Given the description of an element on the screen output the (x, y) to click on. 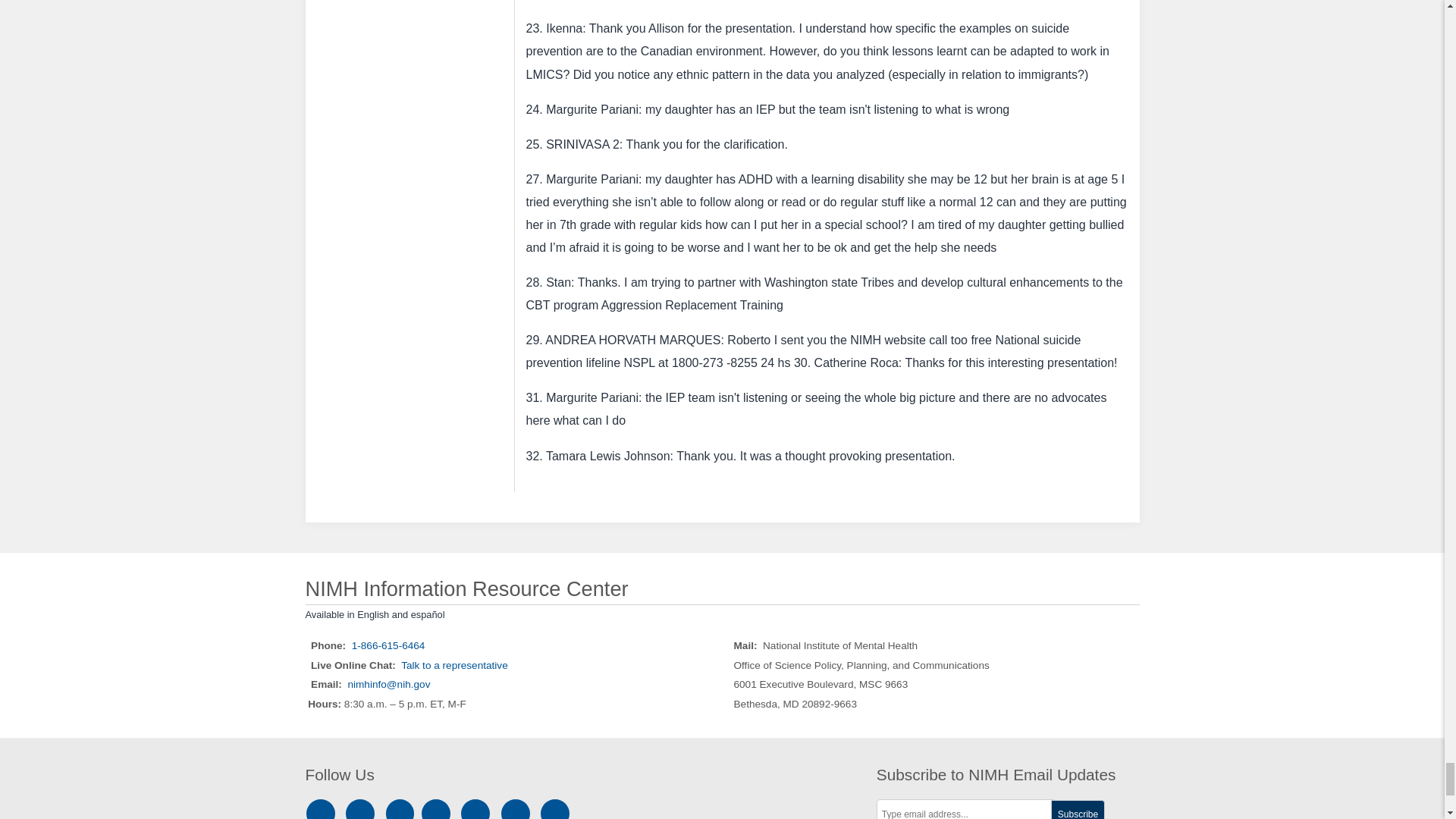
NIMH YouTube (478, 813)
NIMH Facebook (363, 813)
Subscribe (1078, 809)
NIMH News Feeds (555, 813)
NIMH Instagram (322, 813)
NIMH LinkedIn (402, 813)
NIMH Twitter (438, 813)
NIMH Newsletters (515, 813)
